Given the description of an element on the screen output the (x, y) to click on. 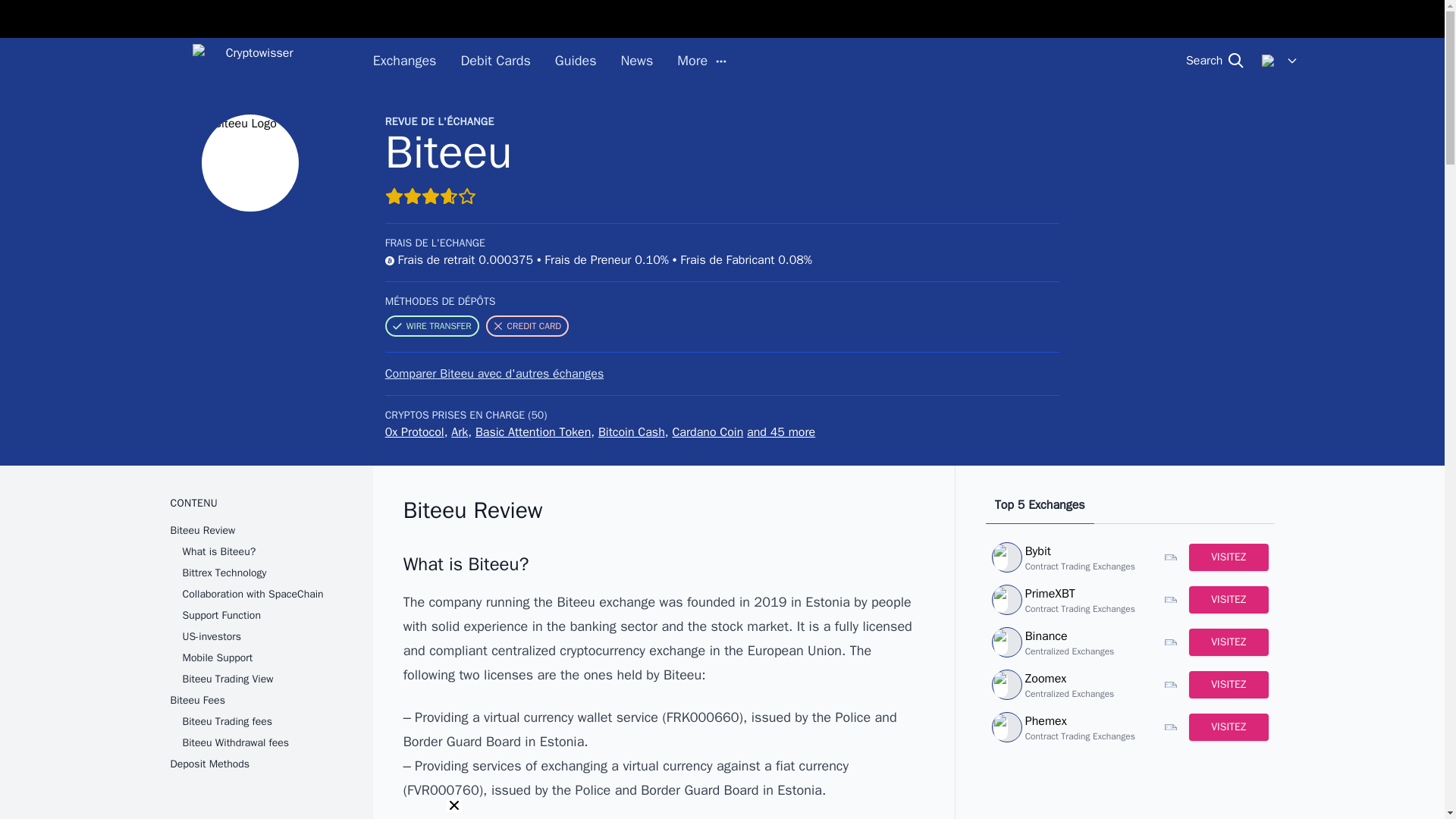
Exchanges (404, 60)
News (636, 60)
BTC (389, 260)
Top 5 Exchanges (1039, 510)
Guides (575, 60)
Debit Cards (494, 60)
Cryptowisser (253, 60)
Choose Language (1279, 60)
Search (1214, 60)
More (701, 60)
